Given the description of an element on the screen output the (x, y) to click on. 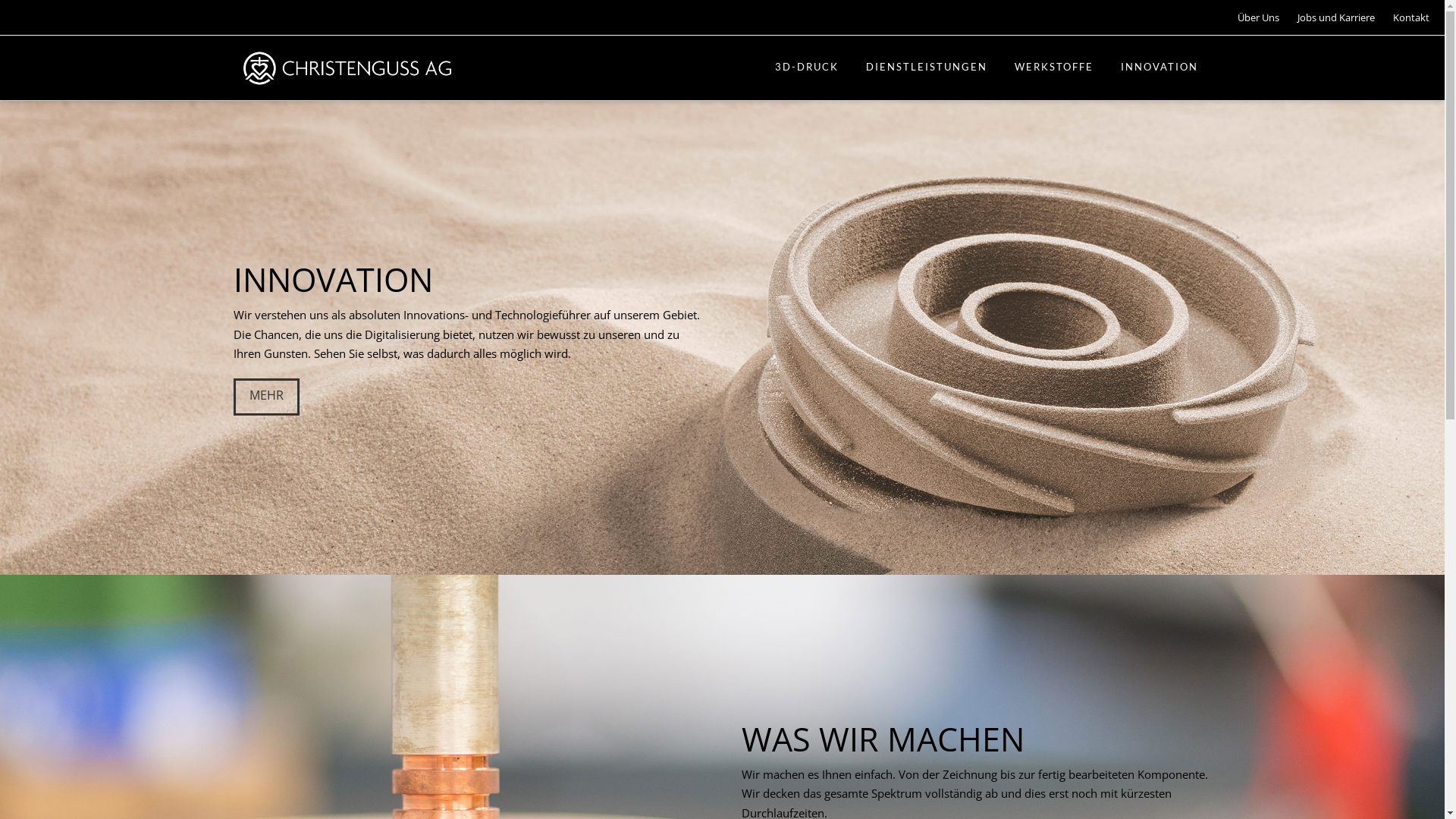
INNOVATION Element type: text (1158, 67)
MEHR Element type: text (266, 396)
WERKSTOFFE Element type: text (1053, 67)
DIENSTLEISTUNGEN Element type: text (925, 67)
Kontakt Element type: text (1418, 17)
3D-DRUCK Element type: text (805, 67)
Jobs und Karriere Element type: text (1343, 17)
